Given the description of an element on the screen output the (x, y) to click on. 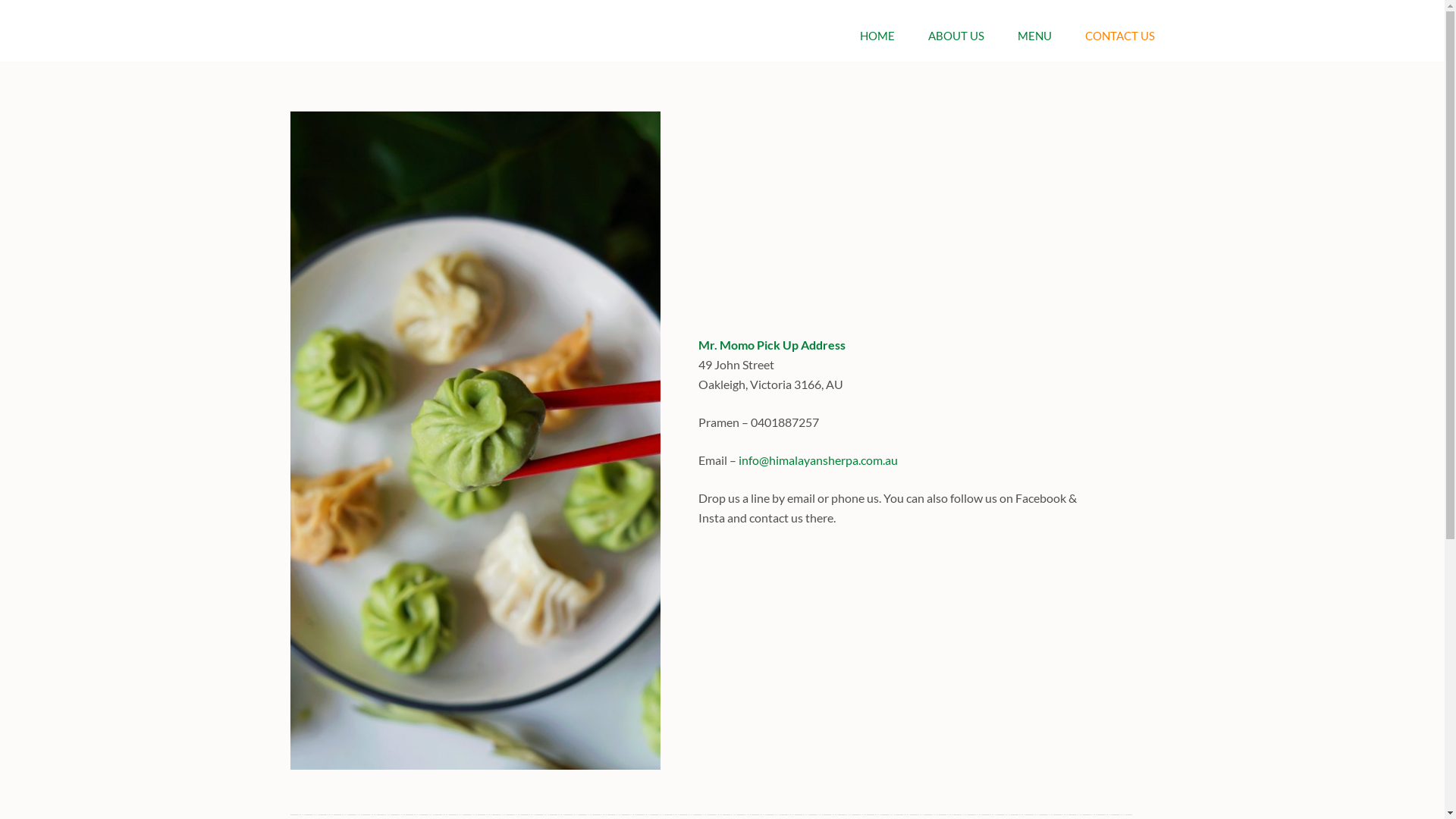
HOME Element type: text (876, 44)
info@himalayansherpa.com.au Element type: text (817, 459)
CONTACT US Element type: text (1119, 44)
ABOUT US Element type: text (956, 44)
MENU Element type: text (1034, 44)
